Given the description of an element on the screen output the (x, y) to click on. 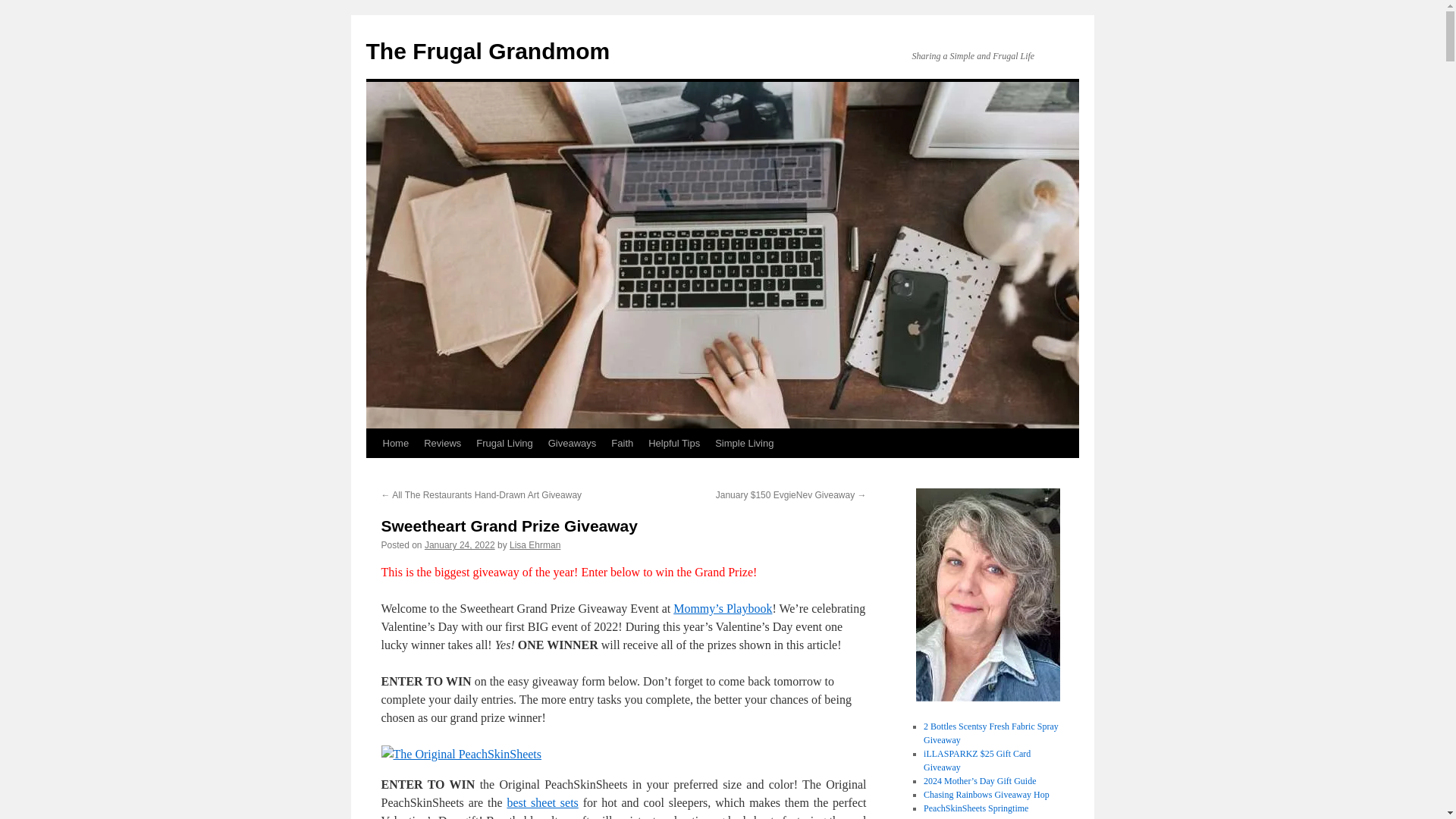
Giveaways (572, 443)
8:30 am (460, 544)
January 24, 2022 (460, 544)
Faith (622, 443)
Lisa Ehrman (534, 544)
Home (395, 443)
Frugal Living (504, 443)
Simple Living (743, 443)
The Frugal Grandmom (487, 50)
Reviews (442, 443)
